Given the description of an element on the screen output the (x, y) to click on. 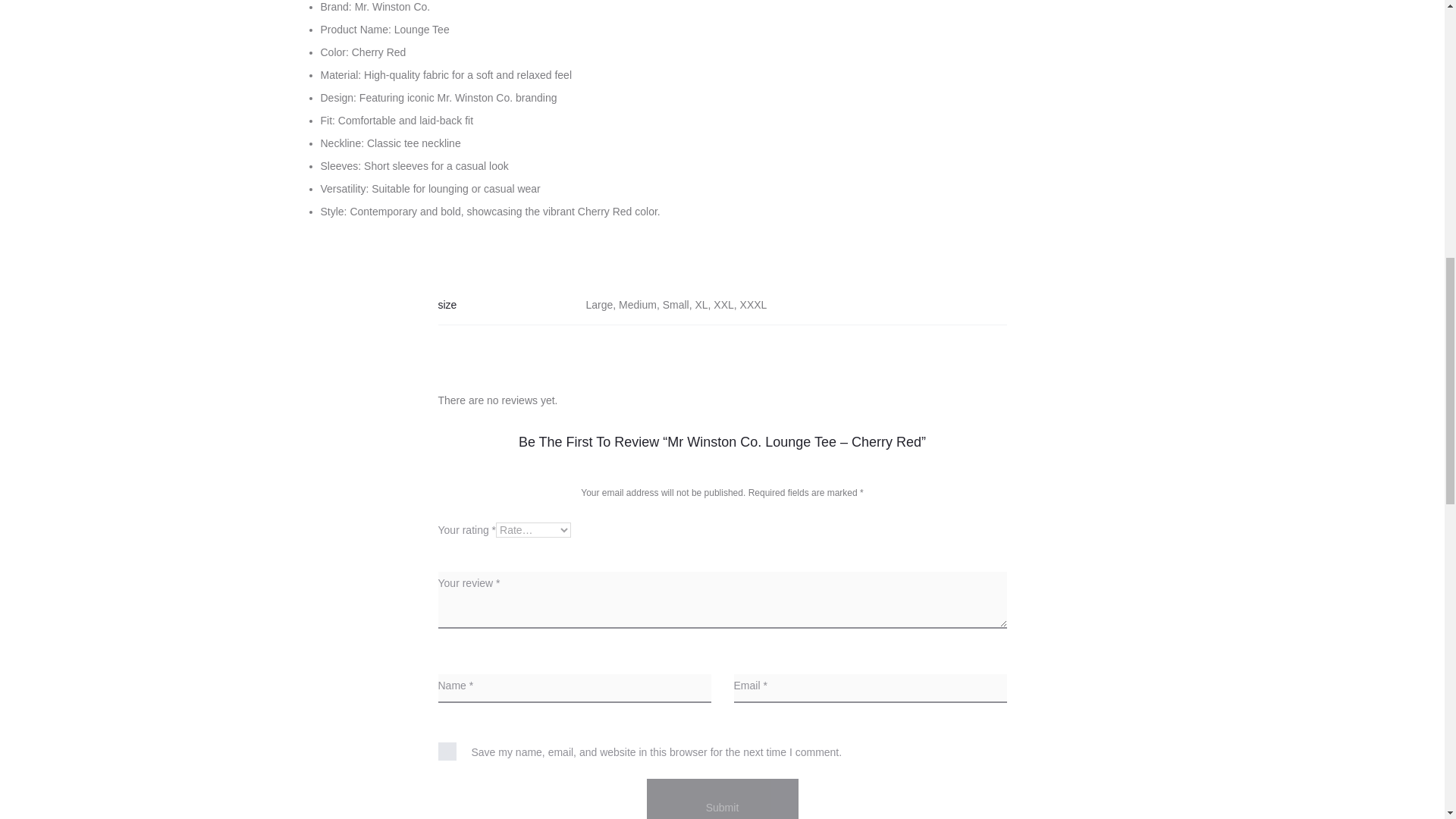
Submit (721, 798)
Submit (721, 798)
